Given the description of an element on the screen output the (x, y) to click on. 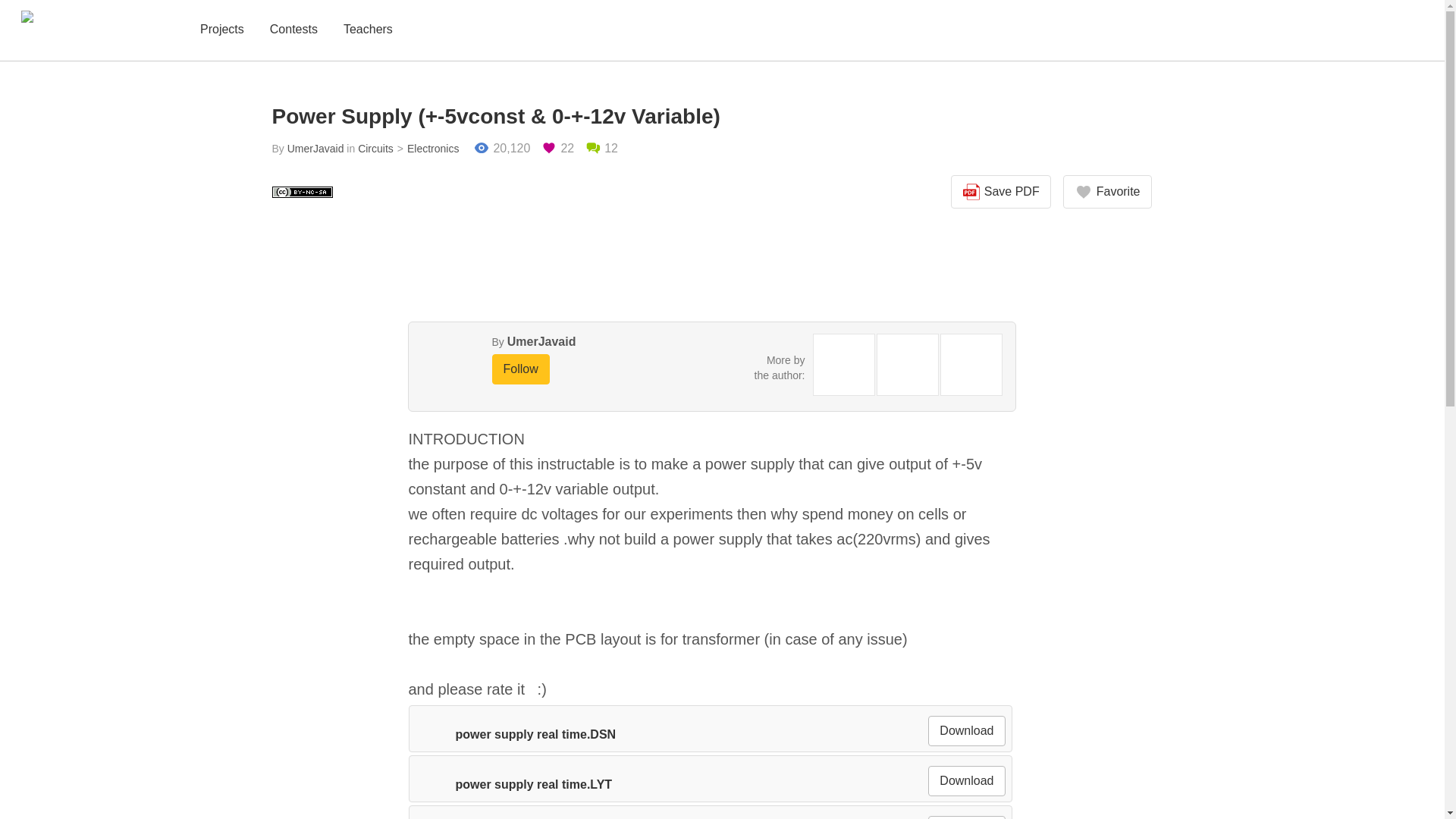
Projects (221, 30)
power supply real time.DSN (514, 734)
Download (966, 730)
Download (966, 780)
Teachers (368, 30)
Follow (520, 368)
Contests (293, 30)
Download (966, 817)
Circuits (375, 148)
12 (601, 148)
Save PDF (1000, 191)
power supply real time.LYT (512, 784)
UmerJavaid (314, 148)
Electronics (426, 148)
UmerJavaid (541, 341)
